Given the description of an element on the screen output the (x, y) to click on. 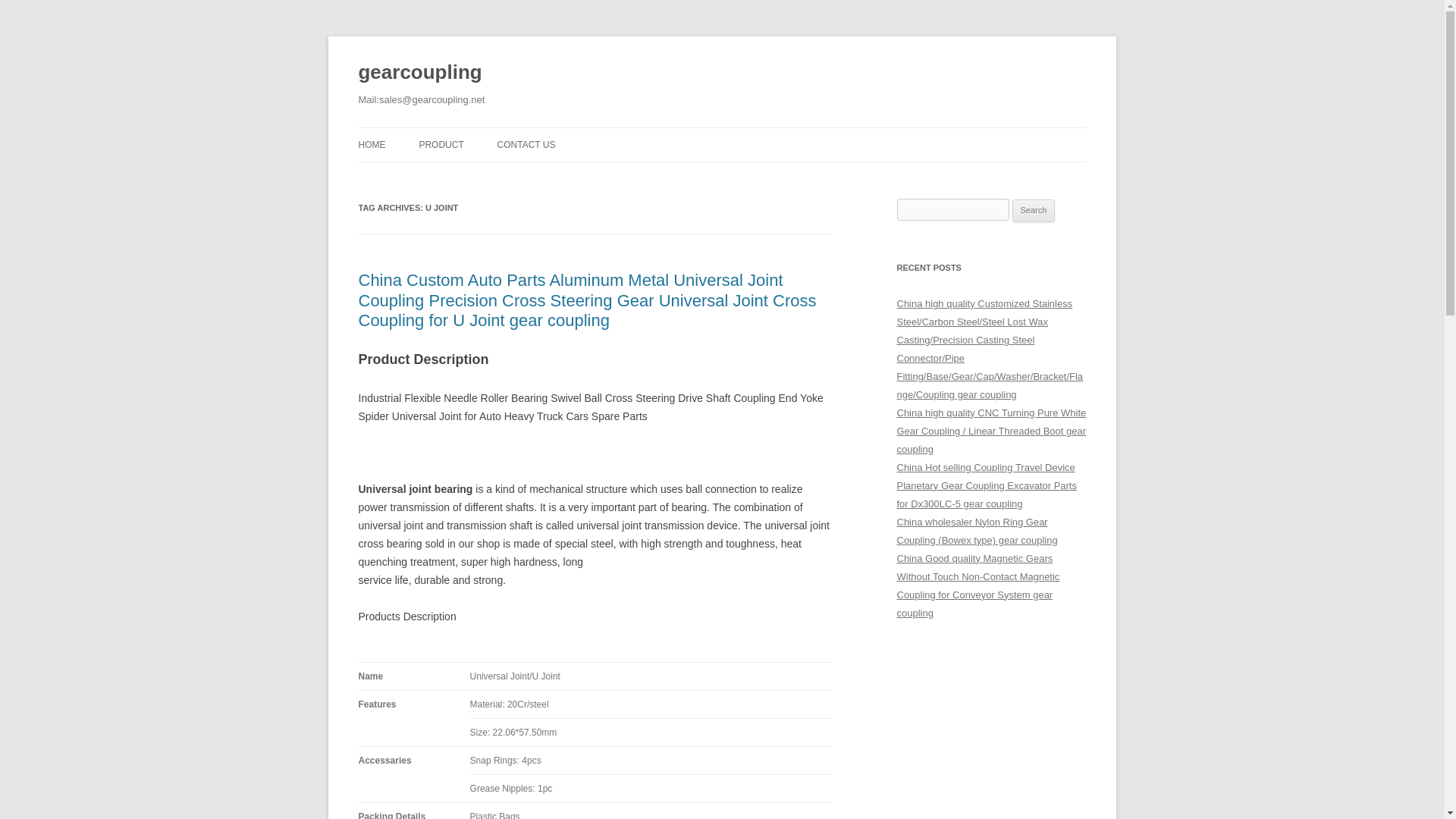
CONTACT US (526, 144)
PRODUCT (441, 144)
Search (1033, 210)
gearcoupling (419, 72)
gearcoupling (419, 72)
Search (1033, 210)
